Given the description of an element on the screen output the (x, y) to click on. 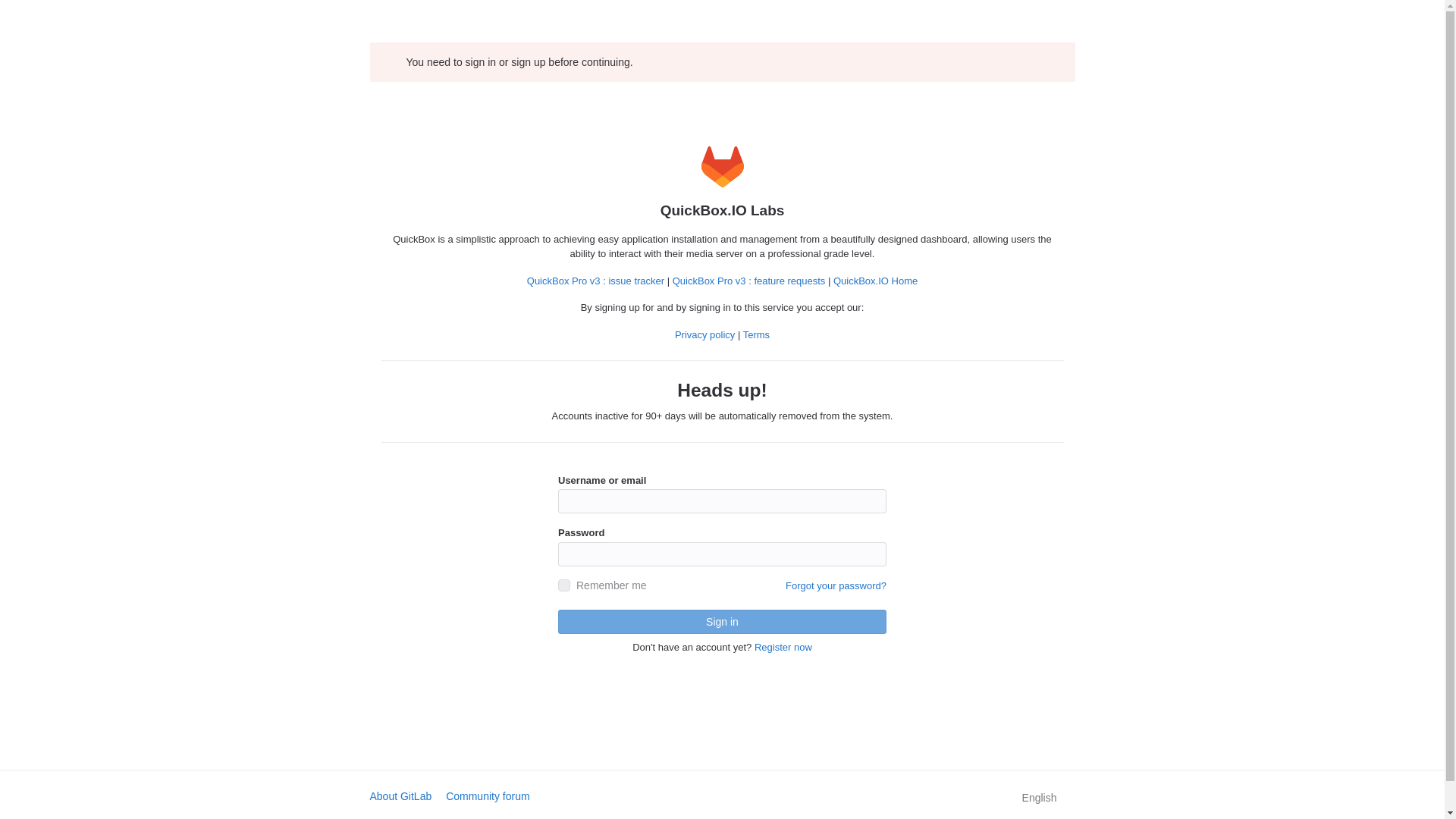
English (1038, 797)
QuickBox Pro v3 : issue tracker (595, 280)
This field is required. (721, 500)
This field is required. (721, 554)
Terms (756, 334)
QuickBox Pro v3 : feature requests (748, 280)
About GitLab (400, 796)
Sign in (721, 621)
QuickBox.IO Home (874, 280)
Register now (783, 646)
Community forum (487, 796)
Forgot your password? (836, 585)
Privacy policy (705, 334)
